Given the description of an element on the screen output the (x, y) to click on. 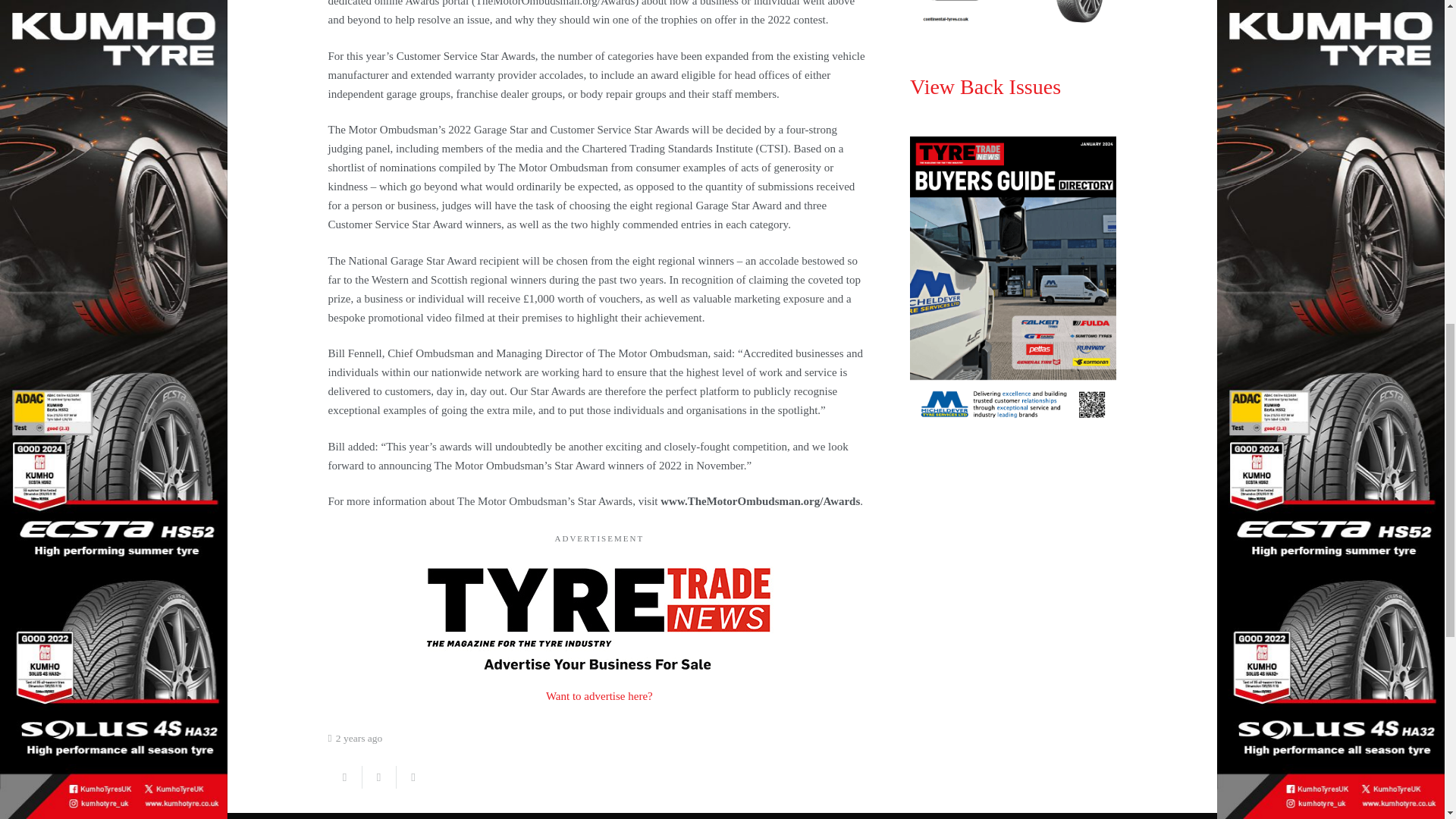
Latest Issue (1013, 15)
Share this (412, 776)
Share this (344, 776)
View Back Issues (985, 86)
Back to top (1413, 26)
Tweet this (379, 776)
Want to advertise here? (599, 695)
